Given the description of an element on the screen output the (x, y) to click on. 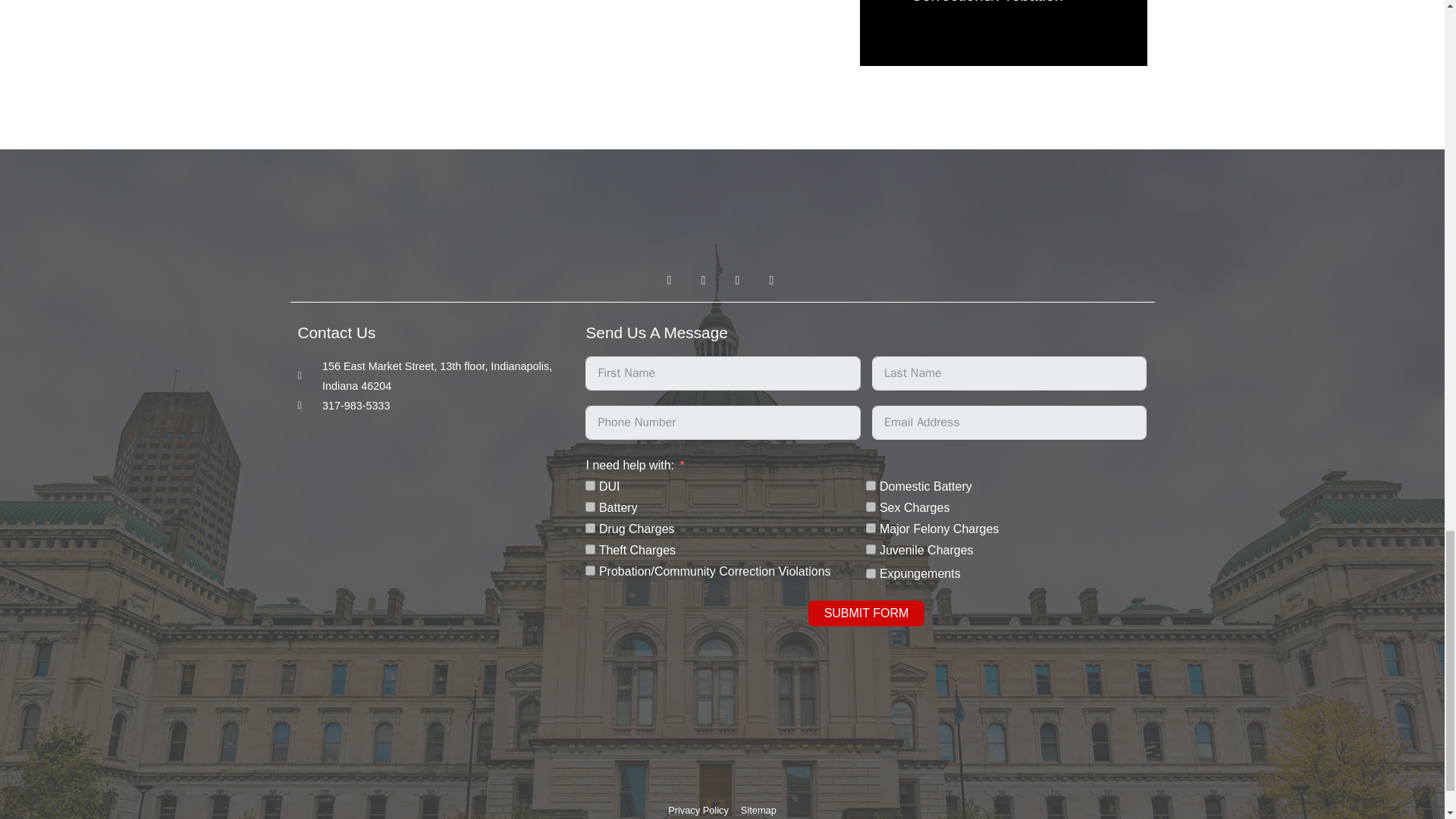
Major Felony Charges (871, 528)
Battery (590, 506)
DUI (590, 485)
Domestic Battery (871, 485)
Sex Charges (871, 506)
Drug Charges (590, 528)
